Given the description of an element on the screen output the (x, y) to click on. 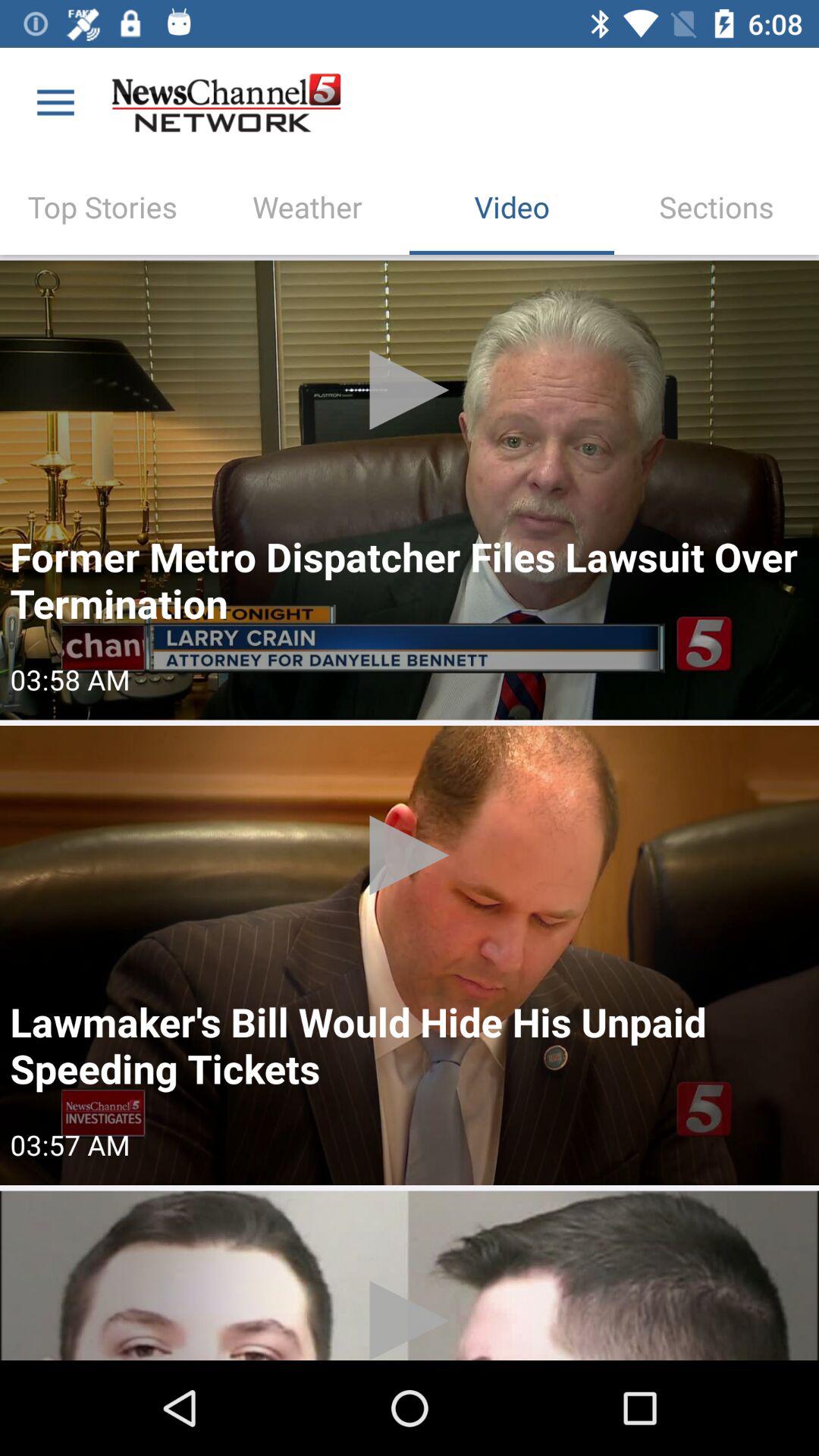
play video (409, 490)
